Given the description of an element on the screen output the (x, y) to click on. 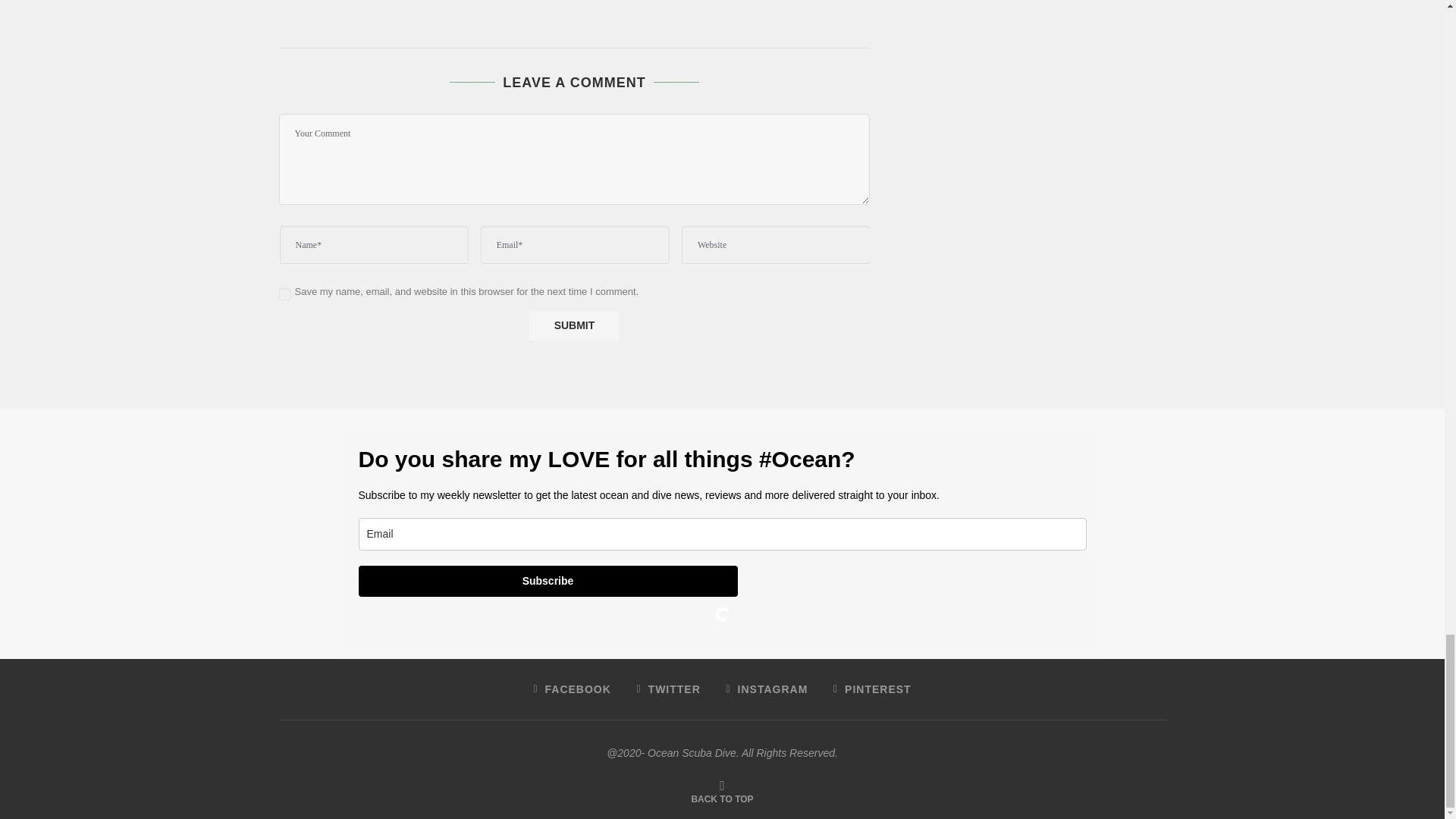
yes (285, 294)
Submit (574, 325)
